Given the description of an element on the screen output the (x, y) to click on. 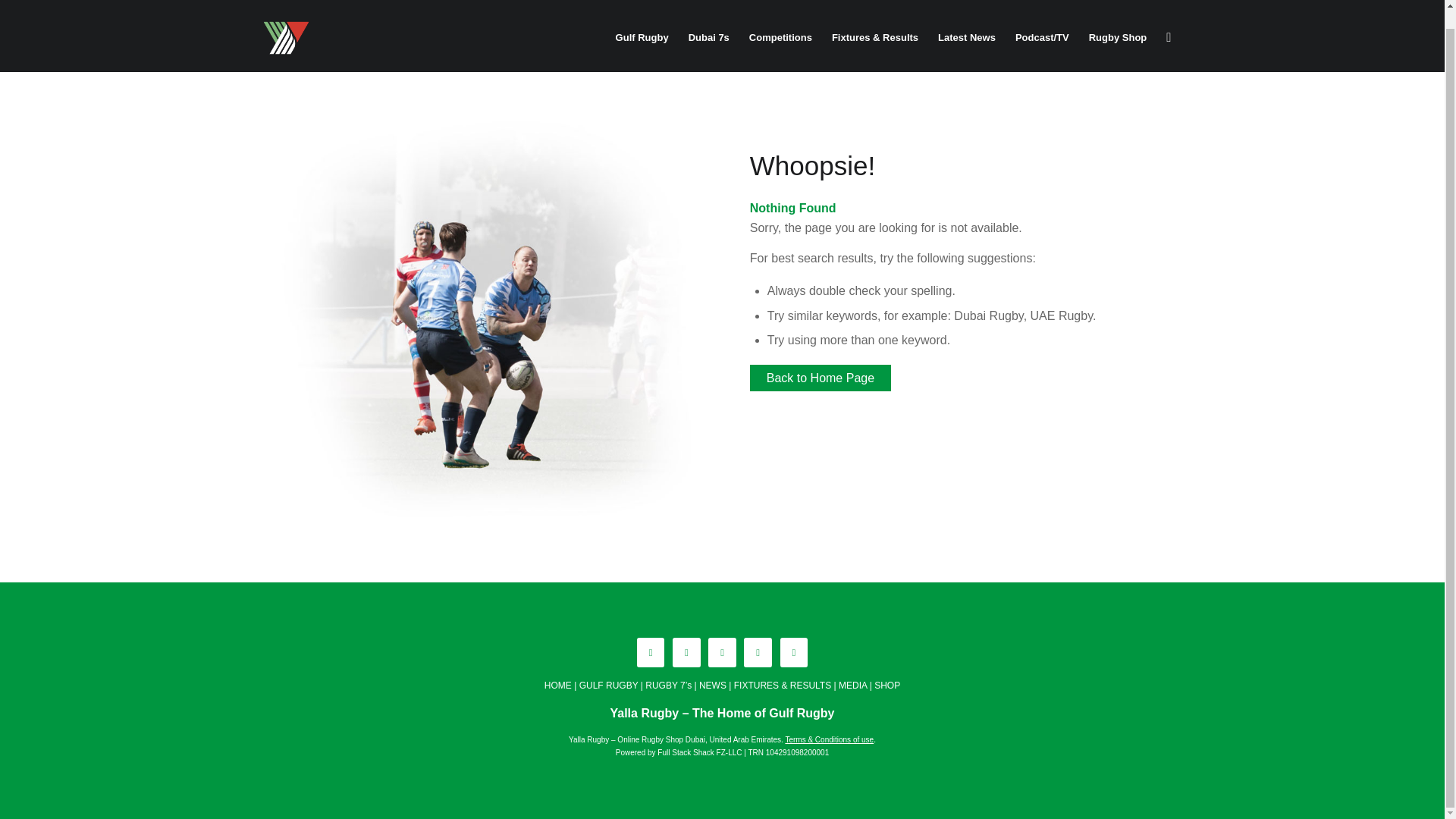
Shop (1073, 1)
Rugby Shop (1117, 38)
Gulf Rugby (641, 38)
Basket (1112, 1)
HOME (558, 685)
Latest News (967, 38)
Back to Home Page (820, 377)
NEWS (712, 685)
GULF RUGBY (609, 685)
MEDIA (852, 685)
SHOP (887, 685)
Checkout (1161, 1)
Competitions (780, 38)
